Given the description of an element on the screen output the (x, y) to click on. 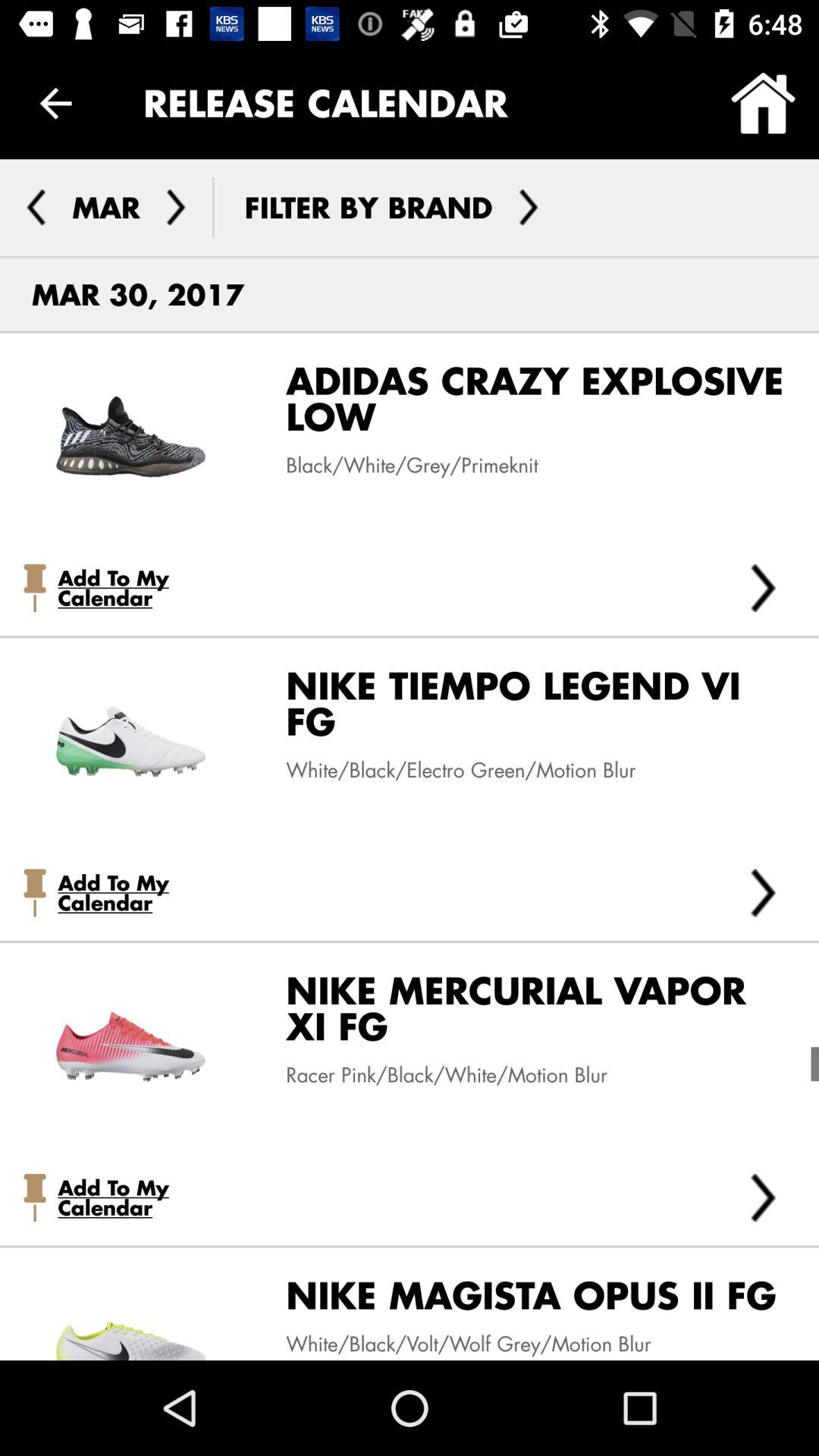
flip until the adidas crazy explosive icon (524, 404)
